Given the description of an element on the screen output the (x, y) to click on. 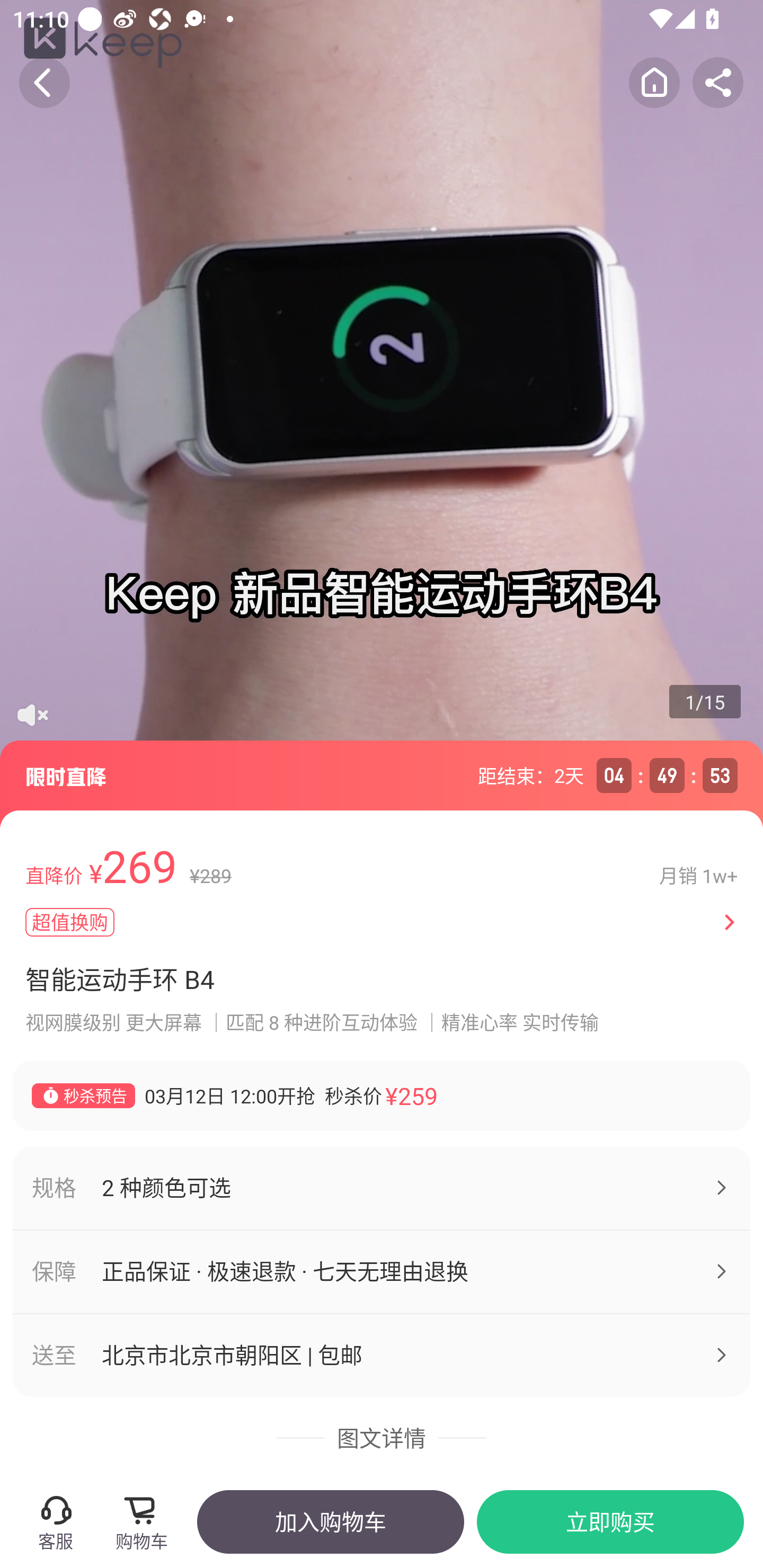
超值换购 (362, 921)
规格 2 种颜色可选 (381, 1187)
保障 正品保证 · 极速退款 · 七天无理由退换 (381, 1271)
送至 北京市北京市朝阳区 | 包邮 (381, 1355)
客服 (55, 1521)
购物车 (147, 1521)
加入购物车 (329, 1521)
立即购买 (609, 1521)
